Given the description of an element on the screen output the (x, y) to click on. 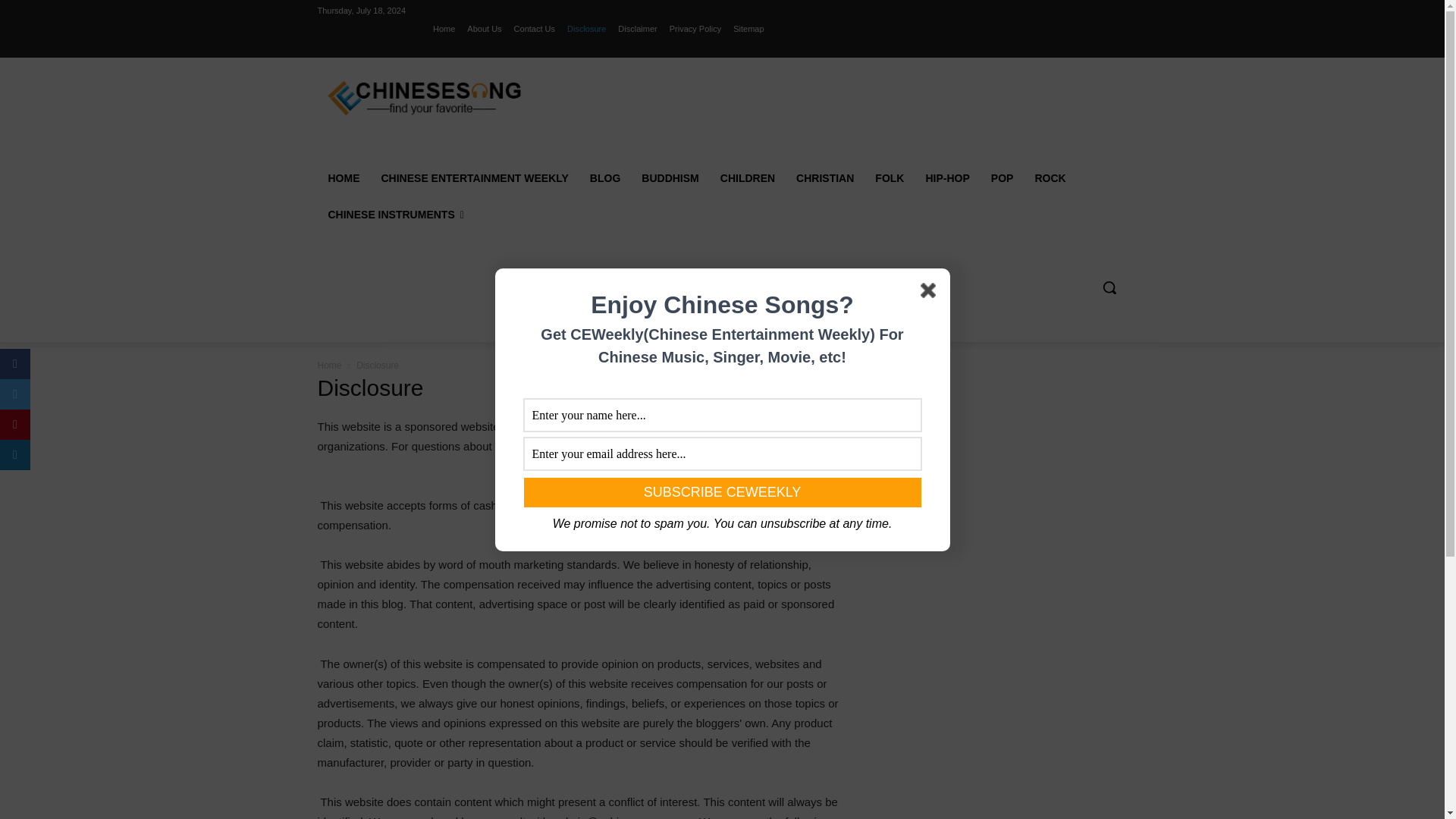
BLOG (604, 177)
POP (1002, 177)
CHRISTIAN (825, 177)
Home (443, 28)
CHILDREN (748, 177)
CHINESE INSTRUMENTS (395, 214)
HIP-HOP (946, 177)
Sitemap (747, 28)
CHINESE ENTERTAINMENT WEEKLY (473, 177)
About Us (483, 28)
Subscribe CEWeekly (721, 491)
Disclaimer (636, 28)
HOME (343, 177)
Disclosure (586, 28)
Contact Us (533, 28)
